Given the description of an element on the screen output the (x, y) to click on. 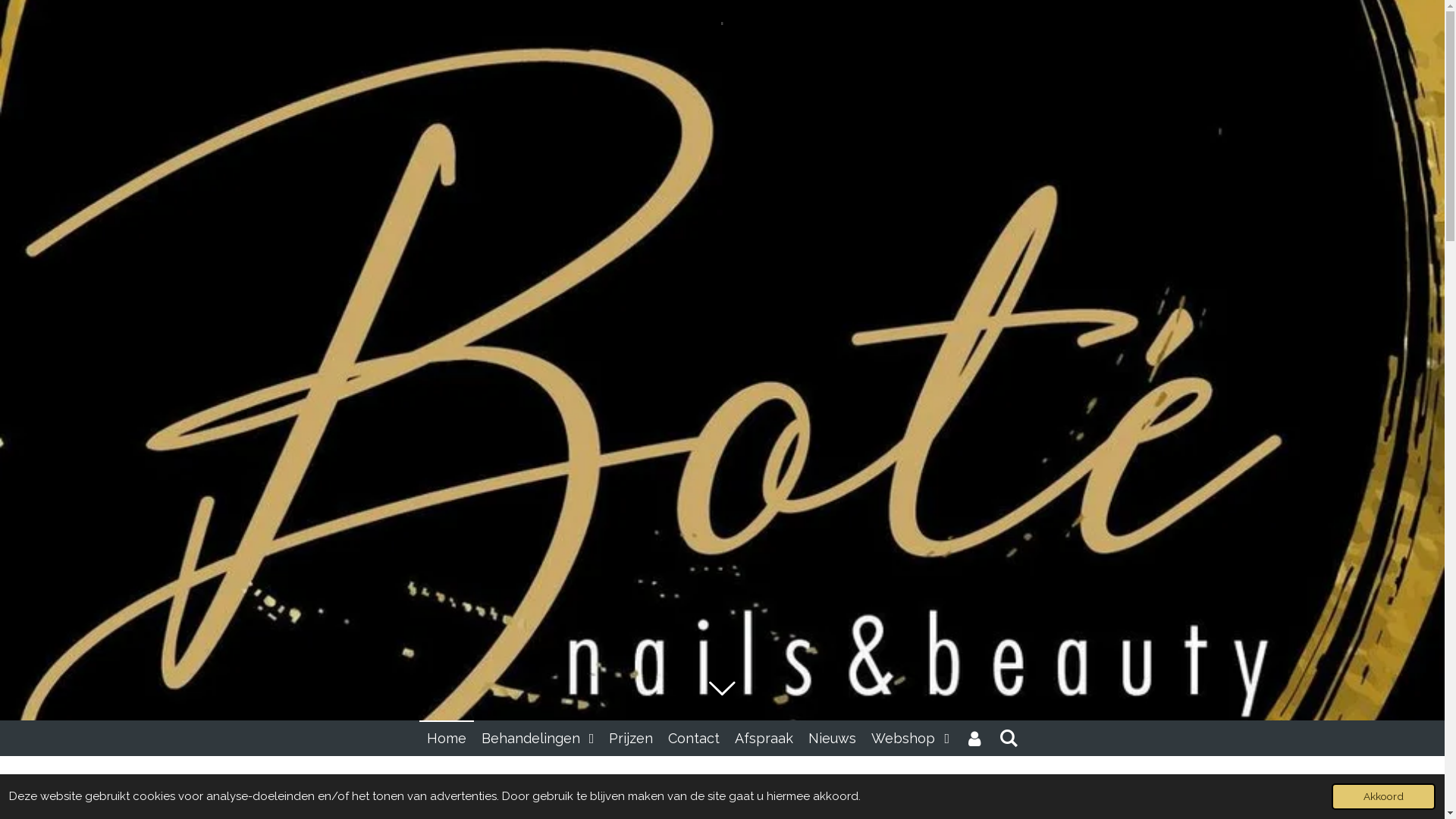
Akkoord Element type: text (1383, 796)
Behandelingen Element type: text (537, 738)
Nieuws Element type: text (831, 738)
Home Element type: text (446, 738)
Afspraak Element type: text (763, 738)
Zoeken Element type: hover (1008, 738)
Account Element type: hover (974, 738)
Webshop Element type: text (910, 738)
Contact Element type: text (693, 738)
Prijzen Element type: text (630, 738)
